Given the description of an element on the screen output the (x, y) to click on. 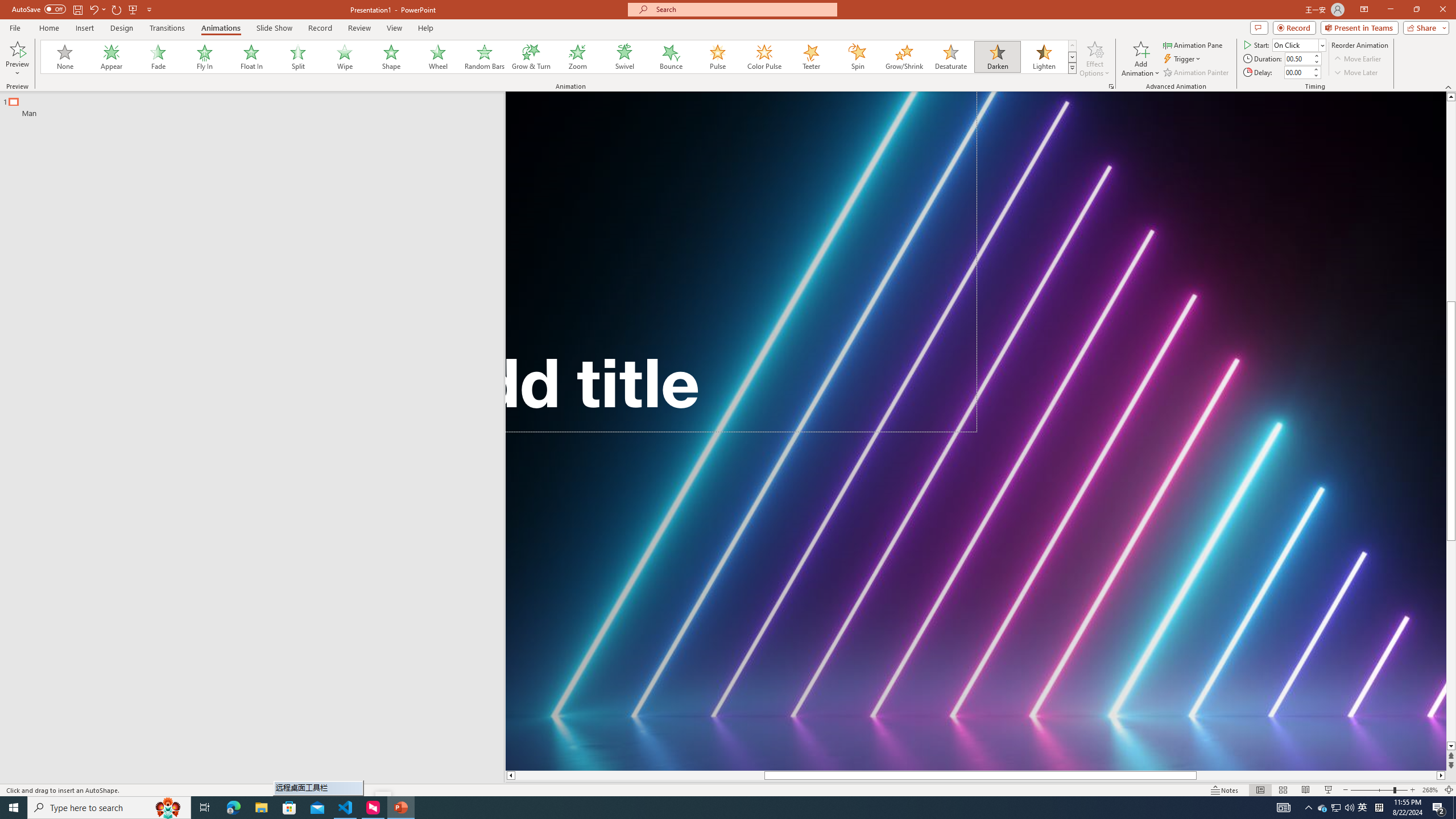
Zoom 268% (1430, 790)
None (65, 56)
Teeter (810, 56)
Move Earlier (1357, 58)
Wheel (437, 56)
Bounce (670, 56)
Color Pulse (764, 56)
Wipe (344, 56)
Fly In (205, 56)
AutomationID: AnimationGallery (558, 56)
